Given the description of an element on the screen output the (x, y) to click on. 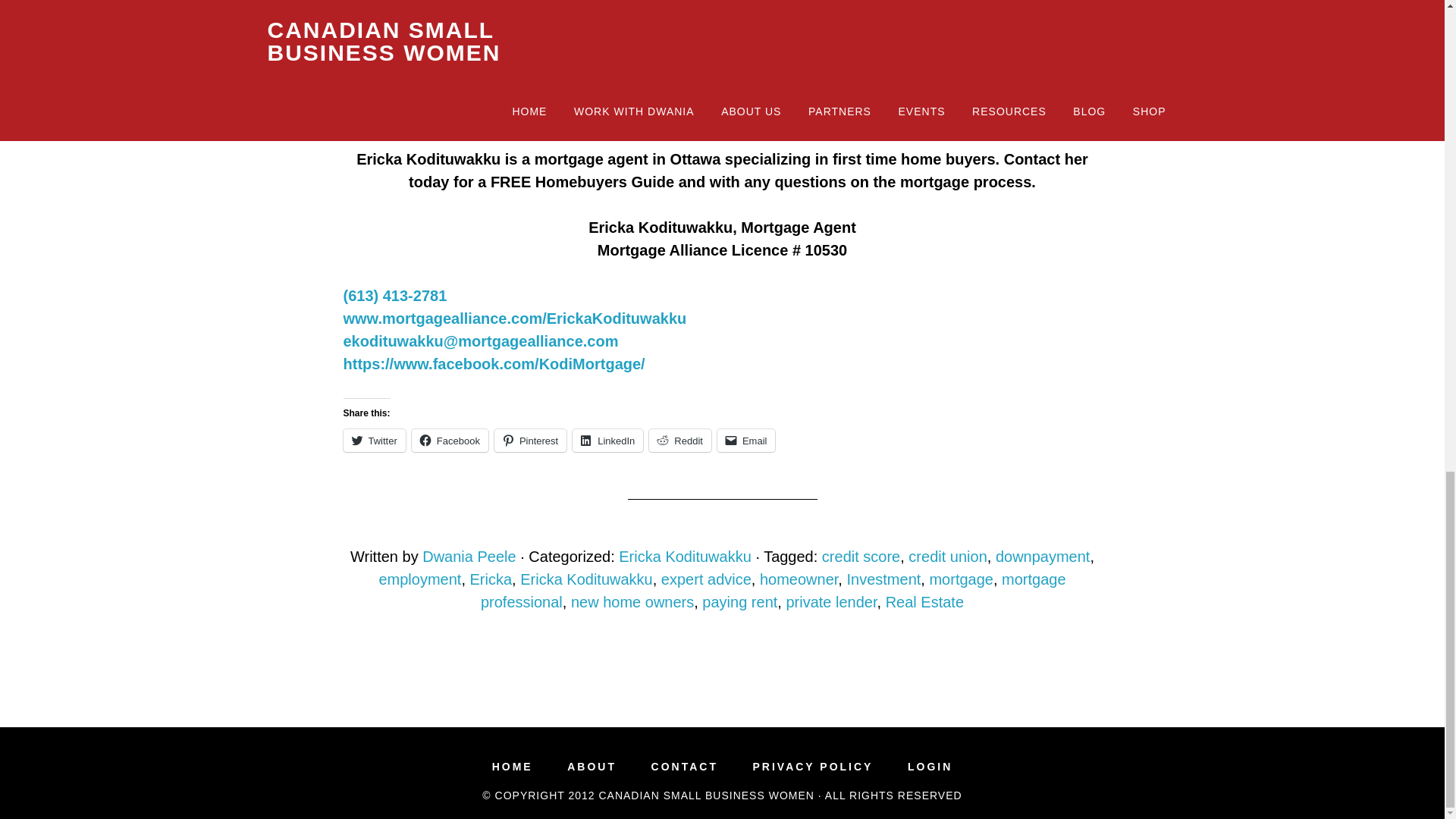
Click to share on Facebook (449, 440)
Ericka Kodituwakku (684, 556)
Facebook (449, 440)
Reddit (680, 440)
Click to share on LinkedIn (607, 440)
Pinterest (530, 440)
Twitter (373, 440)
LinkedIn (607, 440)
employment (419, 579)
Click to share on Pinterest (530, 440)
credit score (860, 556)
downpayment (1042, 556)
Click to email a link to a friend (746, 440)
Click to share on Reddit (680, 440)
Email (746, 440)
